Given the description of an element on the screen output the (x, y) to click on. 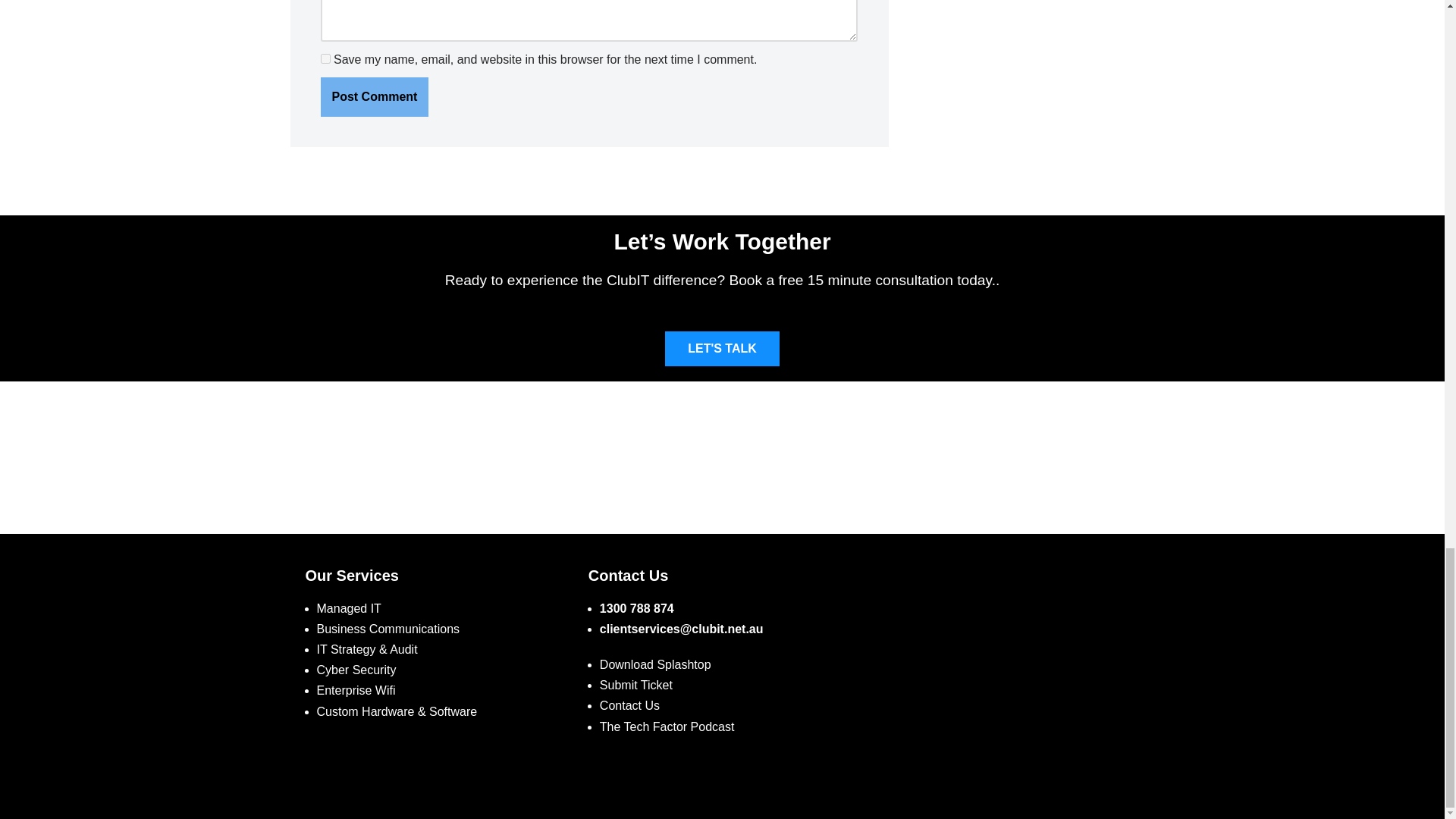
yes (325, 58)
ClubIT (1005, 655)
Post Comment (374, 96)
